Given the description of an element on the screen output the (x, y) to click on. 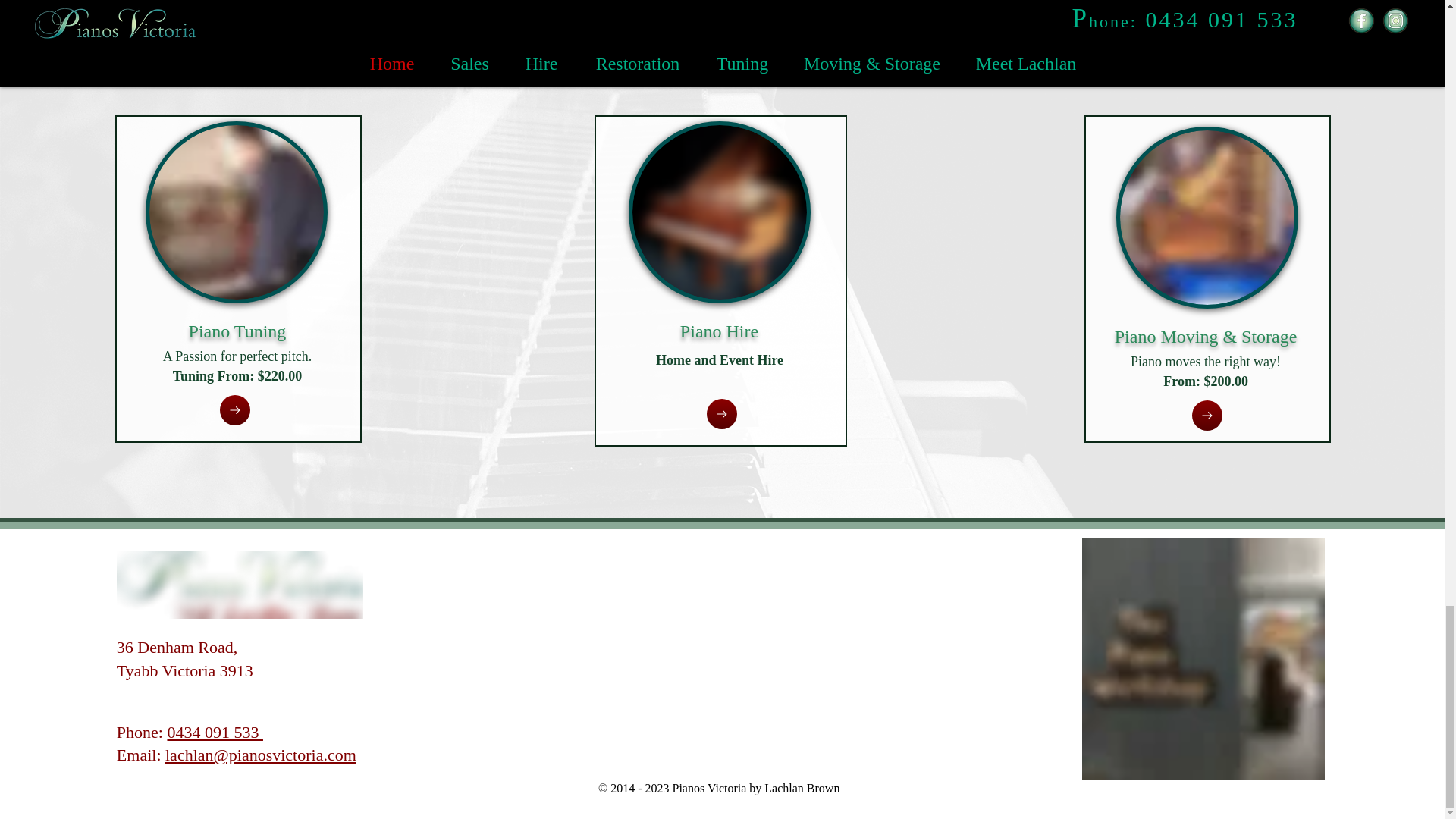
Restoration Page (680, 6)
Pianos Victoria Piano Hire Melbourne (719, 212)
Piano Tuning with Lachlan Brown Melbourne Victoria (236, 212)
Piano Tuning (237, 331)
Piano Hire (718, 331)
0434 091 533  (215, 732)
